Given the description of an element on the screen output the (x, y) to click on. 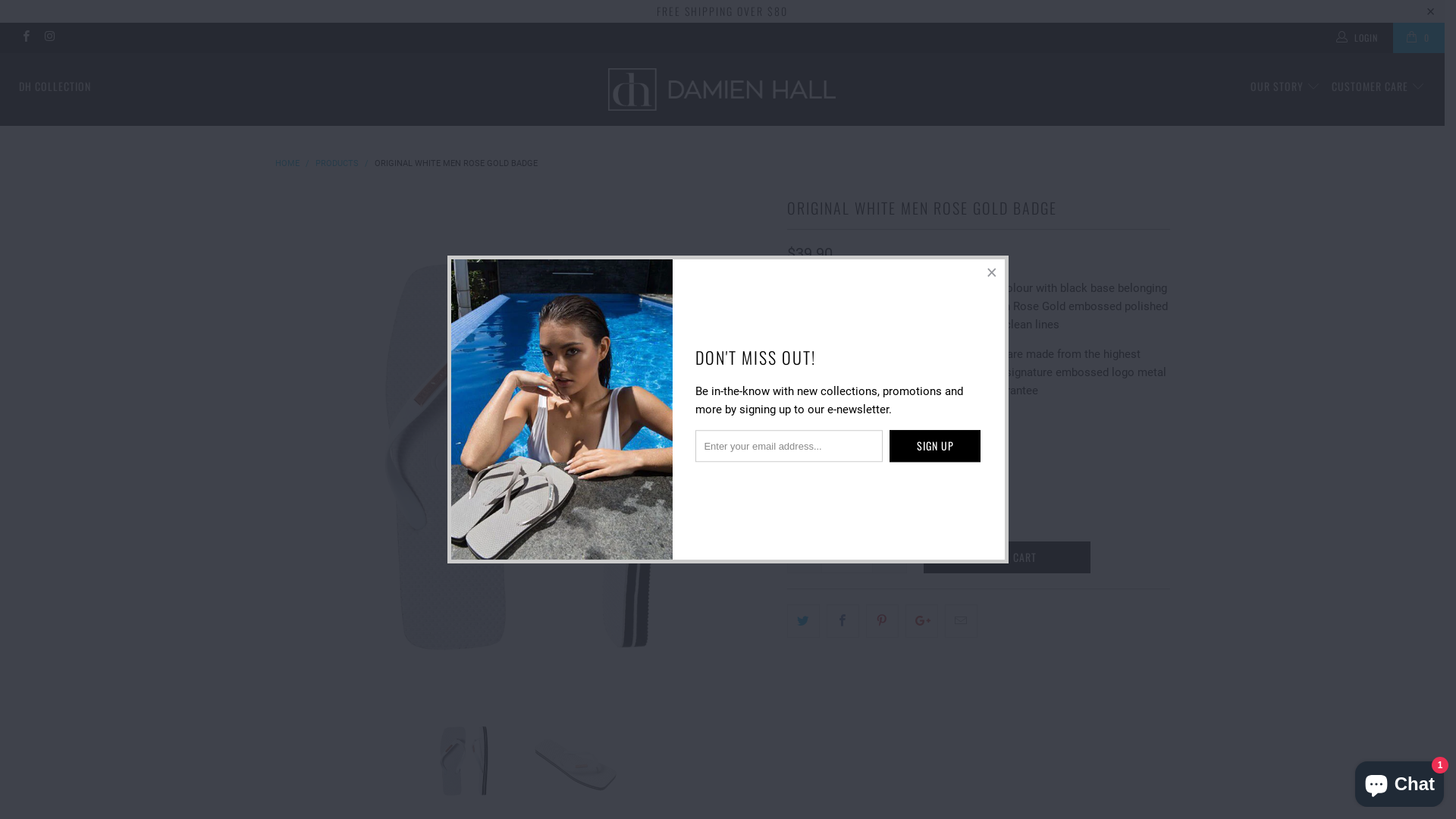
OUR STORY Element type: text (1285, 86)
Damien Hall Australia on Facebook Element type: hover (24, 37)
HOME Element type: text (286, 163)
Damien Hall Australia Element type: hover (721, 89)
PRODUCTS Element type: text (336, 163)
LOGIN Element type: text (1357, 37)
Share this on Facebook Element type: hover (842, 620)
Share this on Pinterest Element type: hover (882, 620)
Email this to a friend Element type: hover (960, 620)
CUSTOMER CARE Element type: text (1378, 86)
Sign Up Element type: text (934, 446)
Shopify online store chat Element type: hover (1399, 780)
0 Element type: text (1418, 37)
Share this on Google+ Element type: hover (921, 620)
Sizing Chart Element type: text (817, 419)
Damien Hall Australia on Instagram Element type: hover (48, 37)
Share this on Twitter Element type: hover (803, 620)
ADD TO CART Element type: text (1006, 557)
DH COLLECTION Element type: text (54, 86)
